Given the description of an element on the screen output the (x, y) to click on. 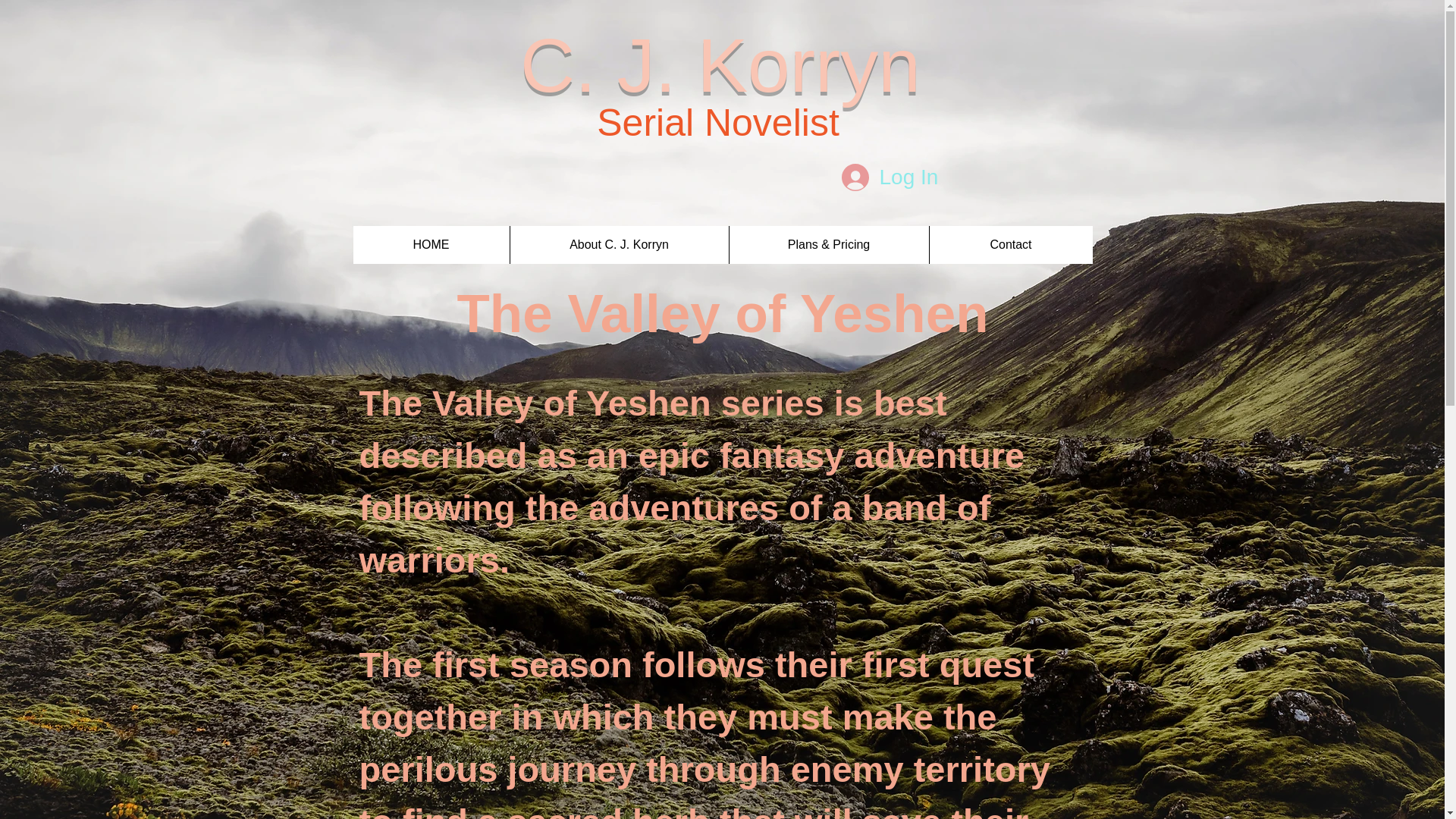
Log In (890, 177)
About C. J. Korryn (619, 244)
HOME (431, 244)
Contact (1010, 244)
